Given the description of an element on the screen output the (x, y) to click on. 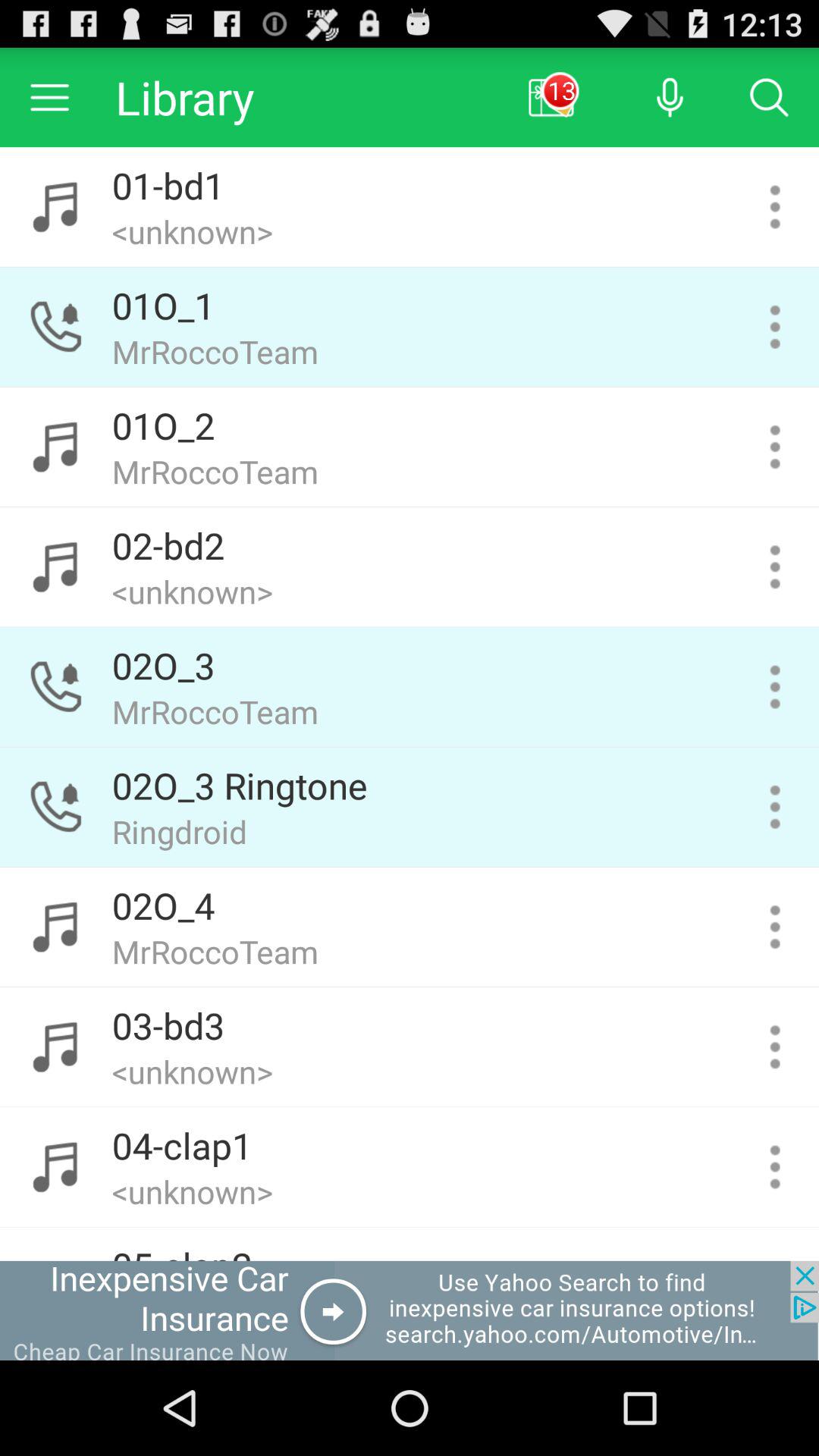
go to song settings (775, 1046)
